Given the description of an element on the screen output the (x, y) to click on. 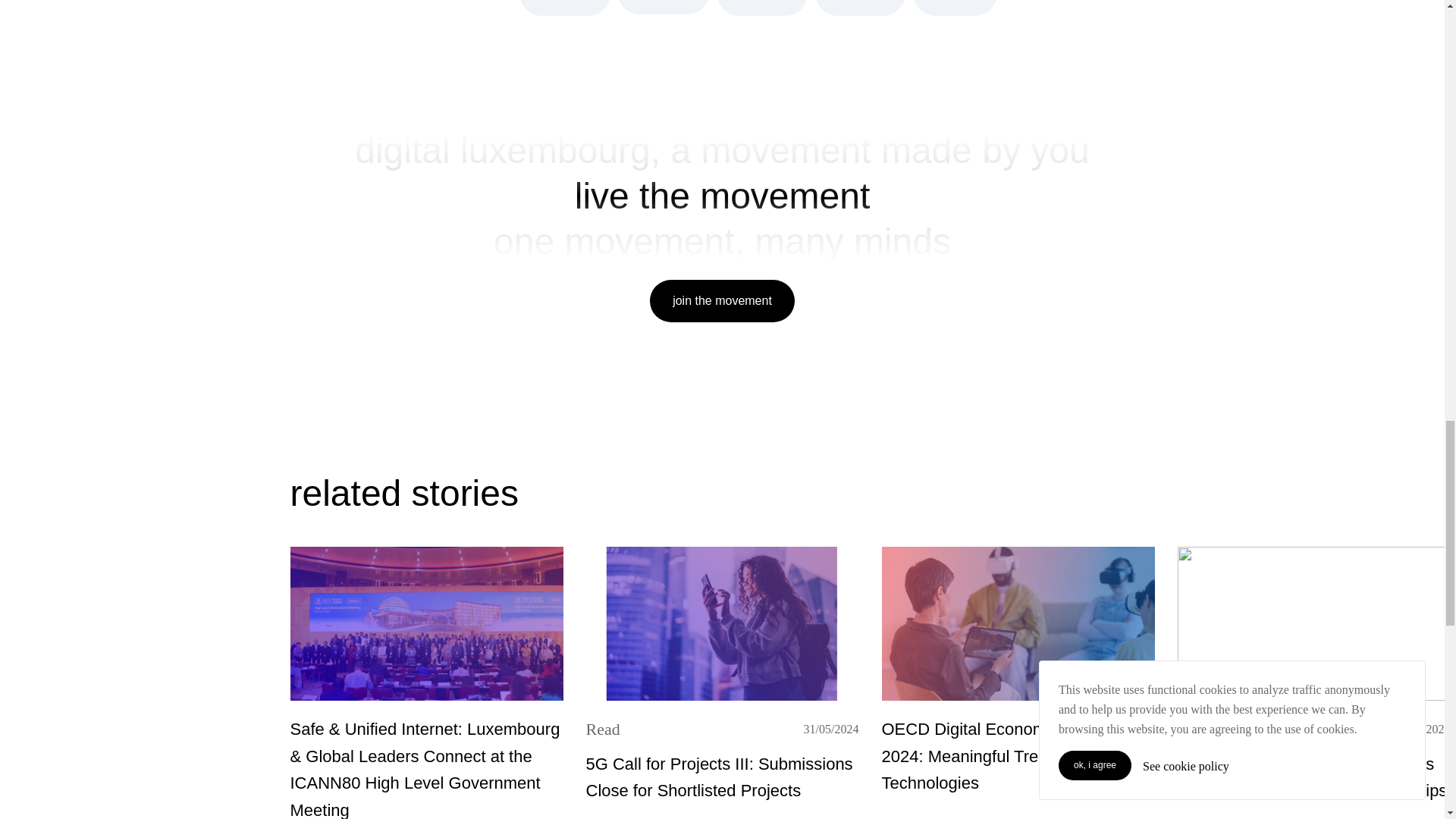
print (663, 7)
email (954, 7)
join the movement (859, 7)
